Given the description of an element on the screen output the (x, y) to click on. 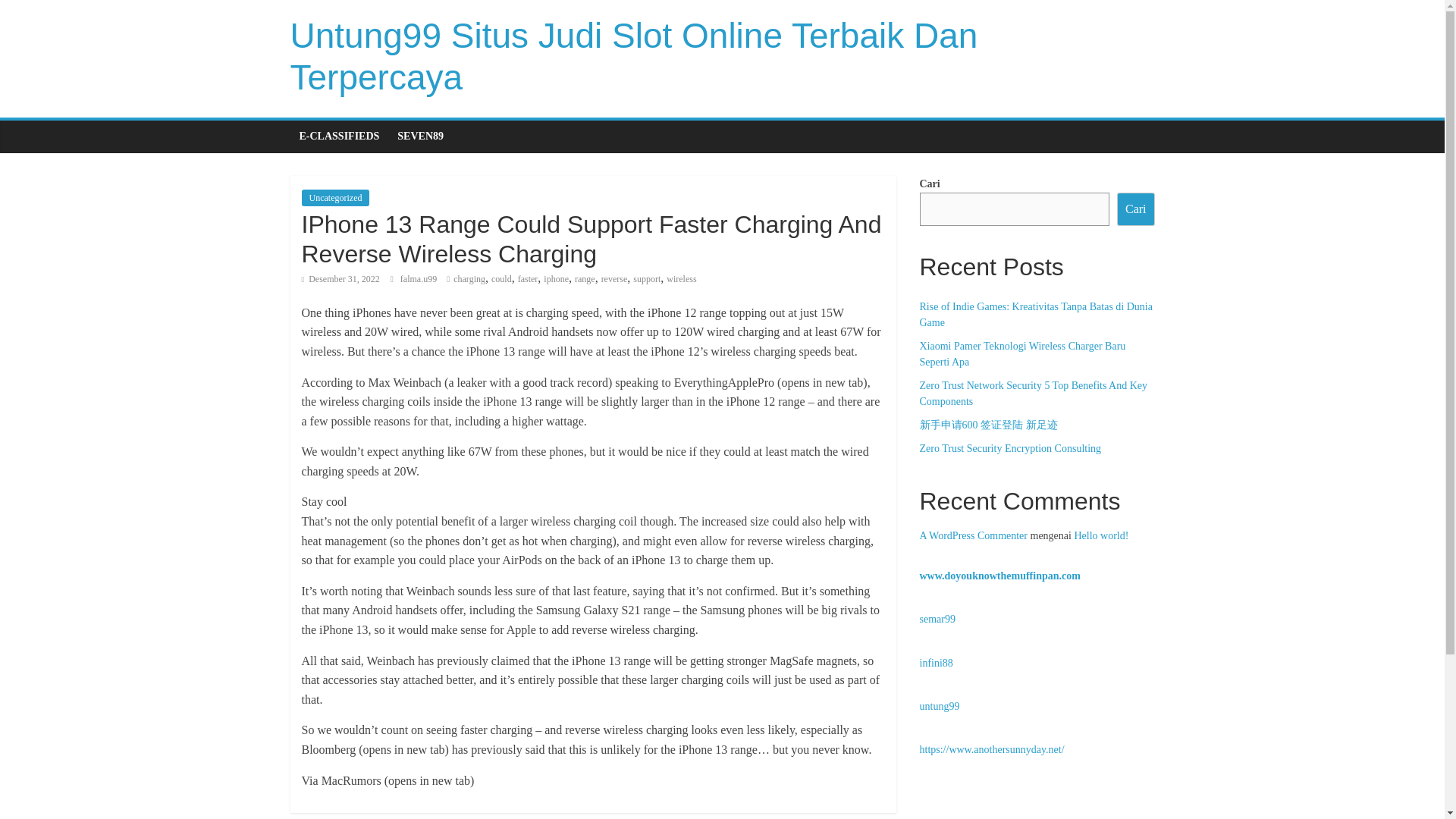
wireless (680, 278)
Cari (1135, 209)
Zero Trust Security Encryption Consulting (1009, 448)
Desember 31, 2022 (340, 278)
SEVEN89 (420, 136)
www.doyouknowthemuffinpan.com (999, 575)
falma.u99 (419, 278)
iphone (556, 278)
Hello world! (1101, 535)
